Given the description of an element on the screen output the (x, y) to click on. 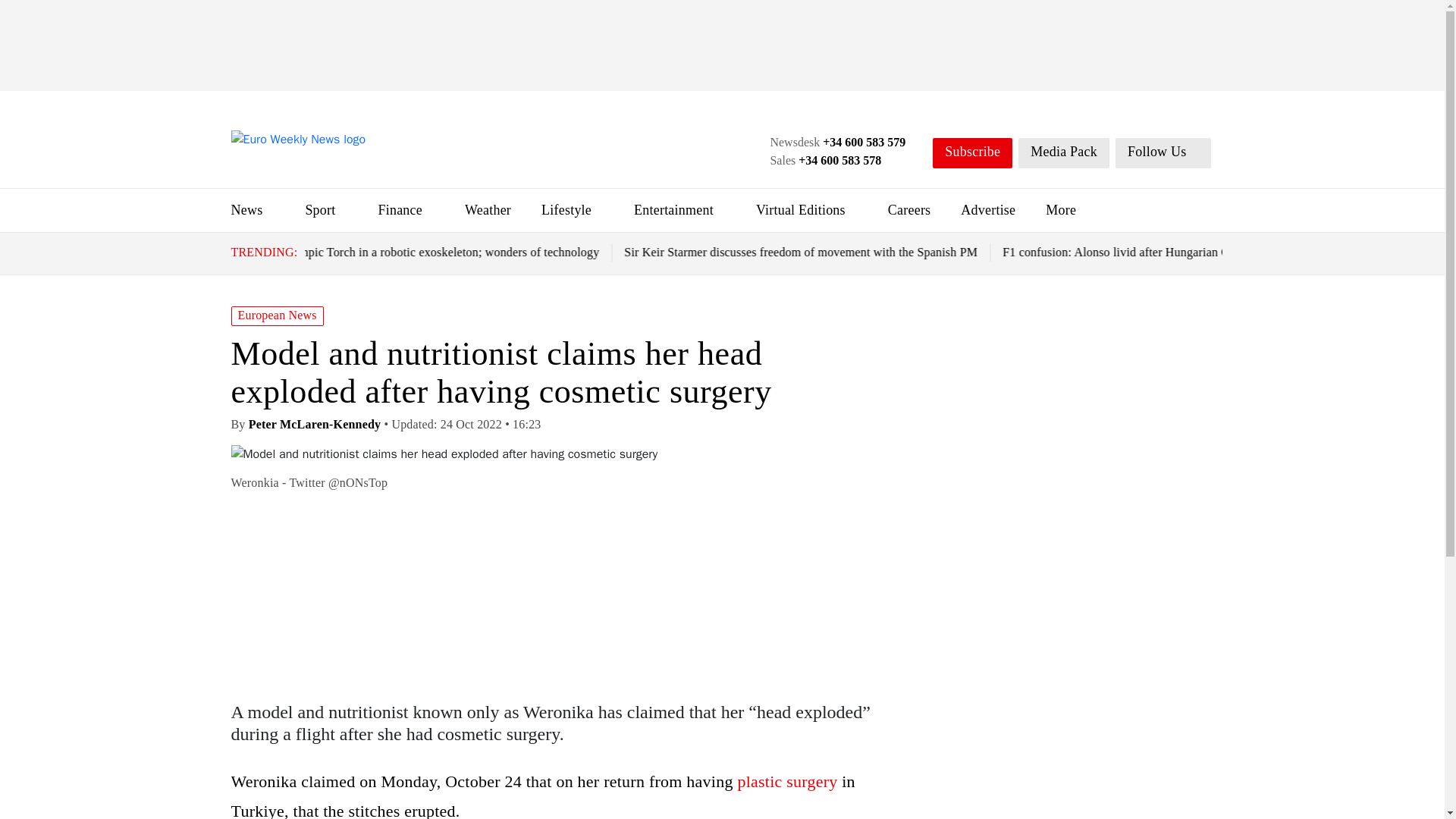
Follow Us (1163, 153)
Subscribe (972, 153)
News (246, 209)
Media Pack (1063, 153)
